Given the description of an element on the screen output the (x, y) to click on. 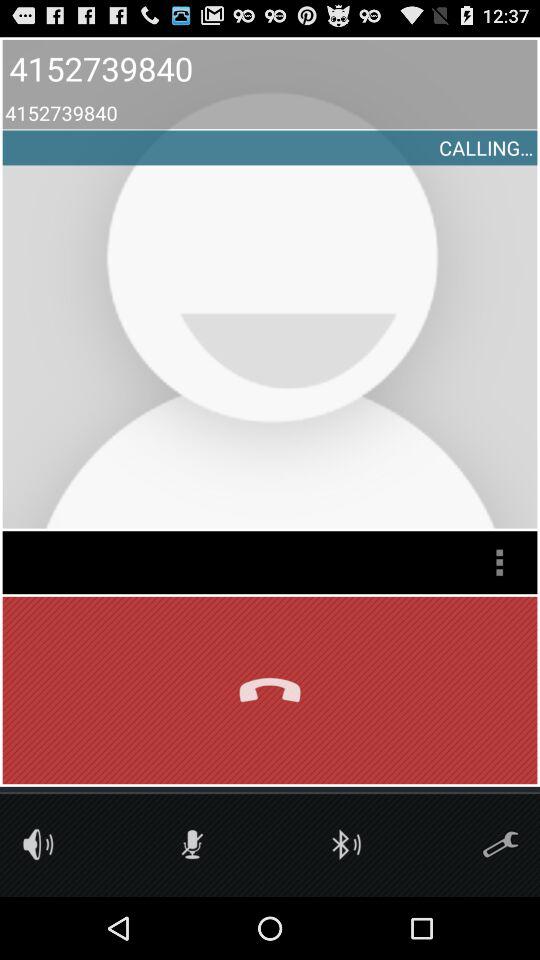
activate bluetooth (346, 844)
